Given the description of an element on the screen output the (x, y) to click on. 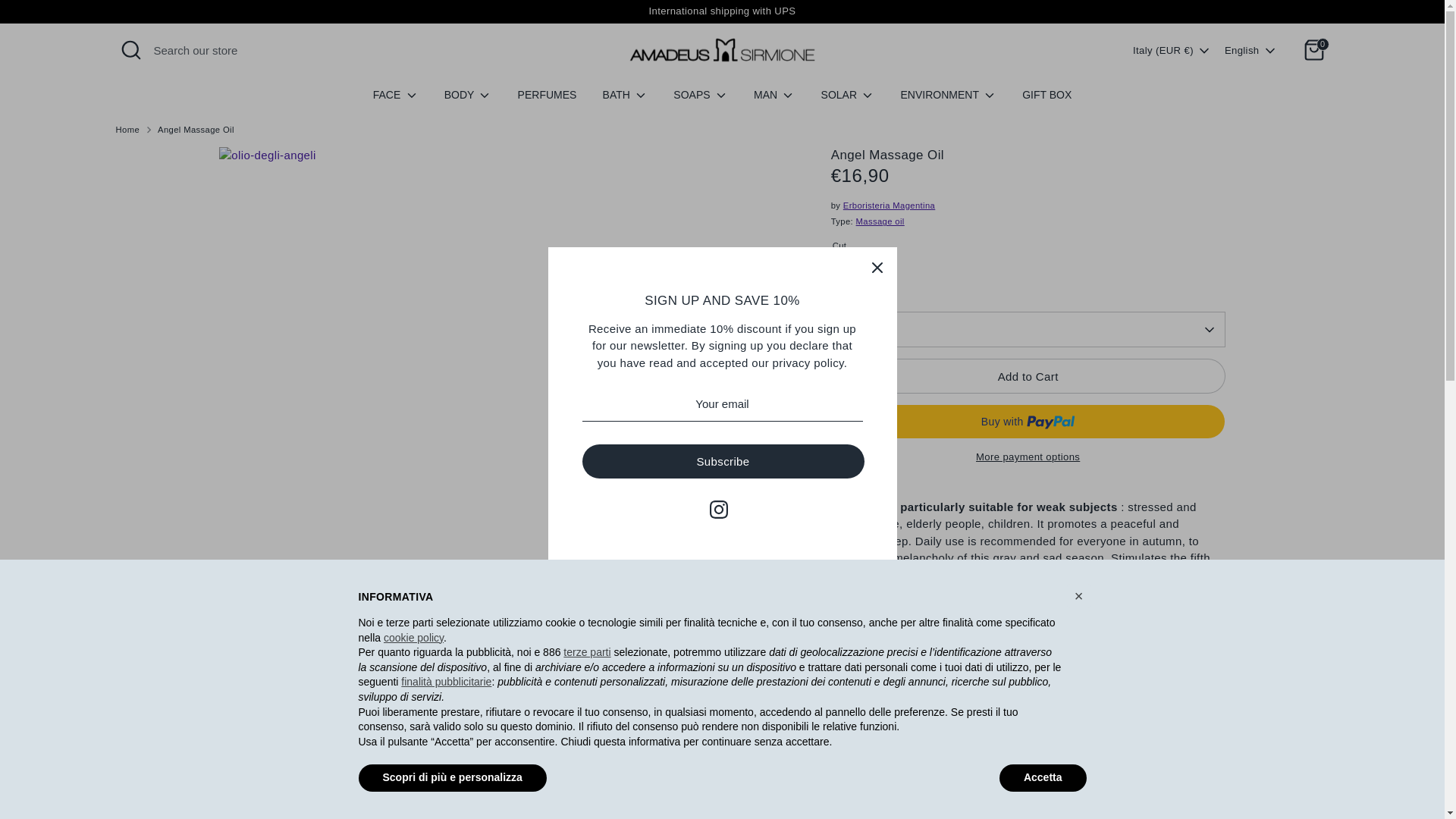
0 (1312, 50)
English (1251, 50)
